Given the description of an element on the screen output the (x, y) to click on. 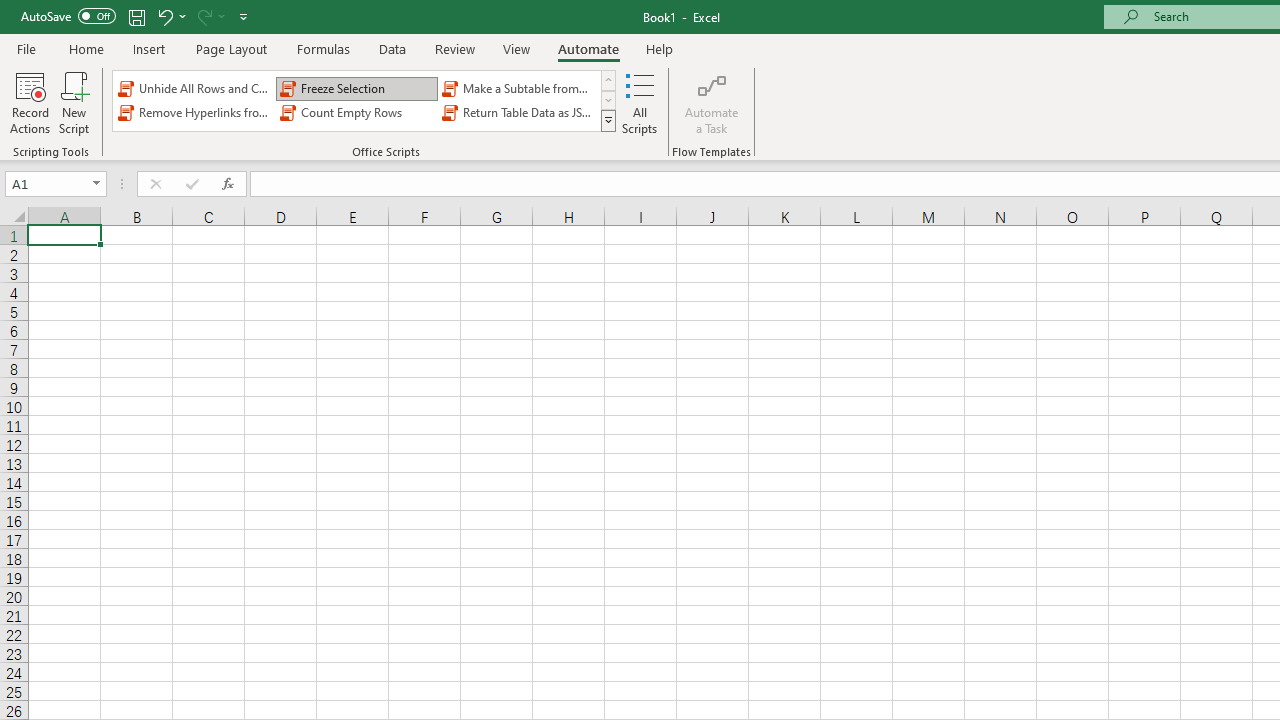
Make a Subtable from a Selection (518, 88)
AutomationID: OfficeScriptsGallery (365, 100)
Count Empty Rows (356, 112)
New Script (73, 102)
All Scripts (639, 102)
